Given the description of an element on the screen output the (x, y) to click on. 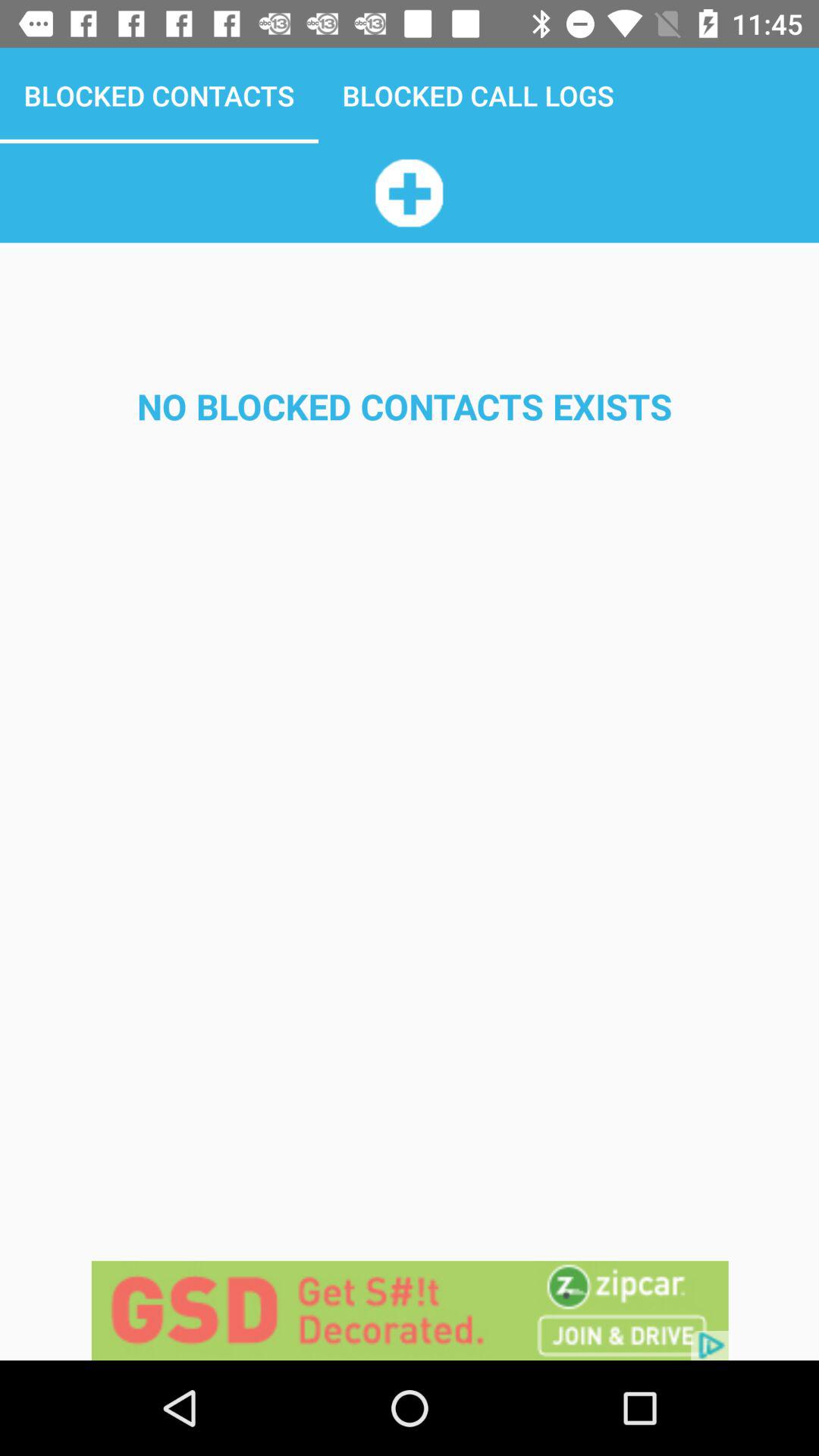
web advertisement (409, 1310)
